Given the description of an element on the screen output the (x, y) to click on. 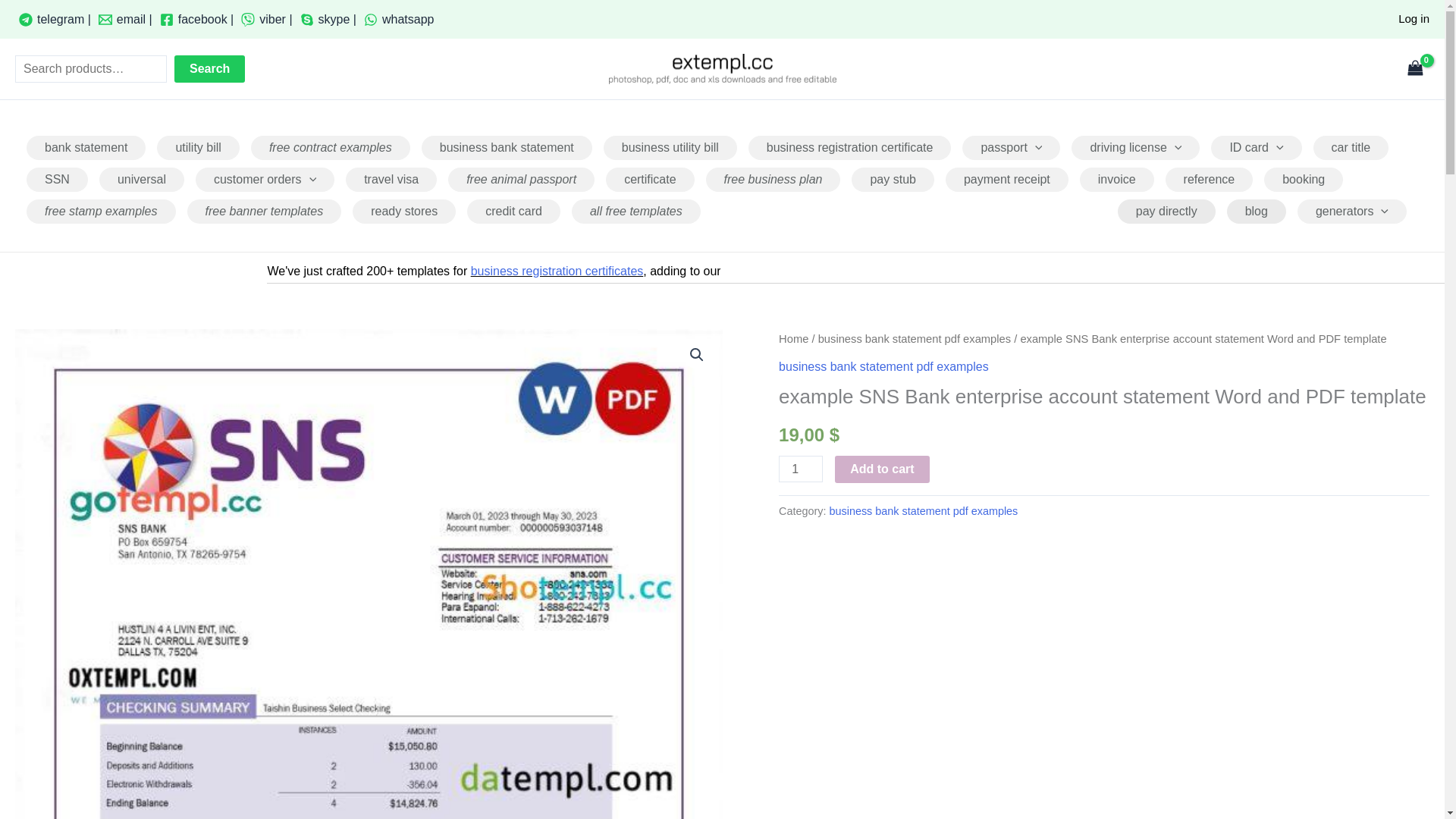
utility bill (197, 147)
passport (1010, 147)
business registration certificate (850, 147)
business utility bill (670, 147)
Log in (1413, 18)
business bank statement (507, 147)
universal (141, 179)
bank statement (85, 147)
driving license (1135, 147)
travel visa (391, 179)
1 (800, 468)
whatsapp (398, 19)
car title (1351, 147)
SSN (56, 179)
